Given the description of an element on the screen output the (x, y) to click on. 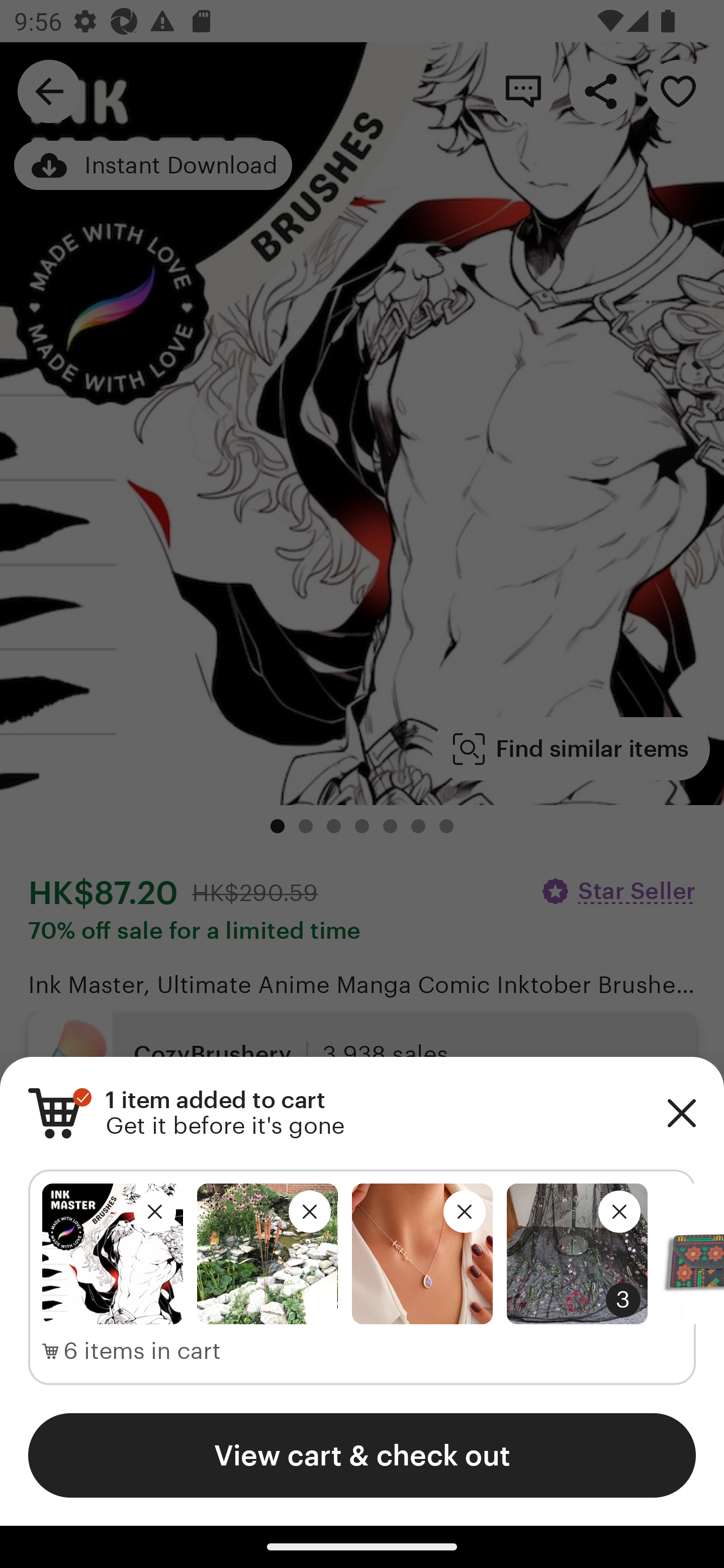
6 items in cart (131, 1351)
View cart & check out (361, 1454)
